Given the description of an element on the screen output the (x, y) to click on. 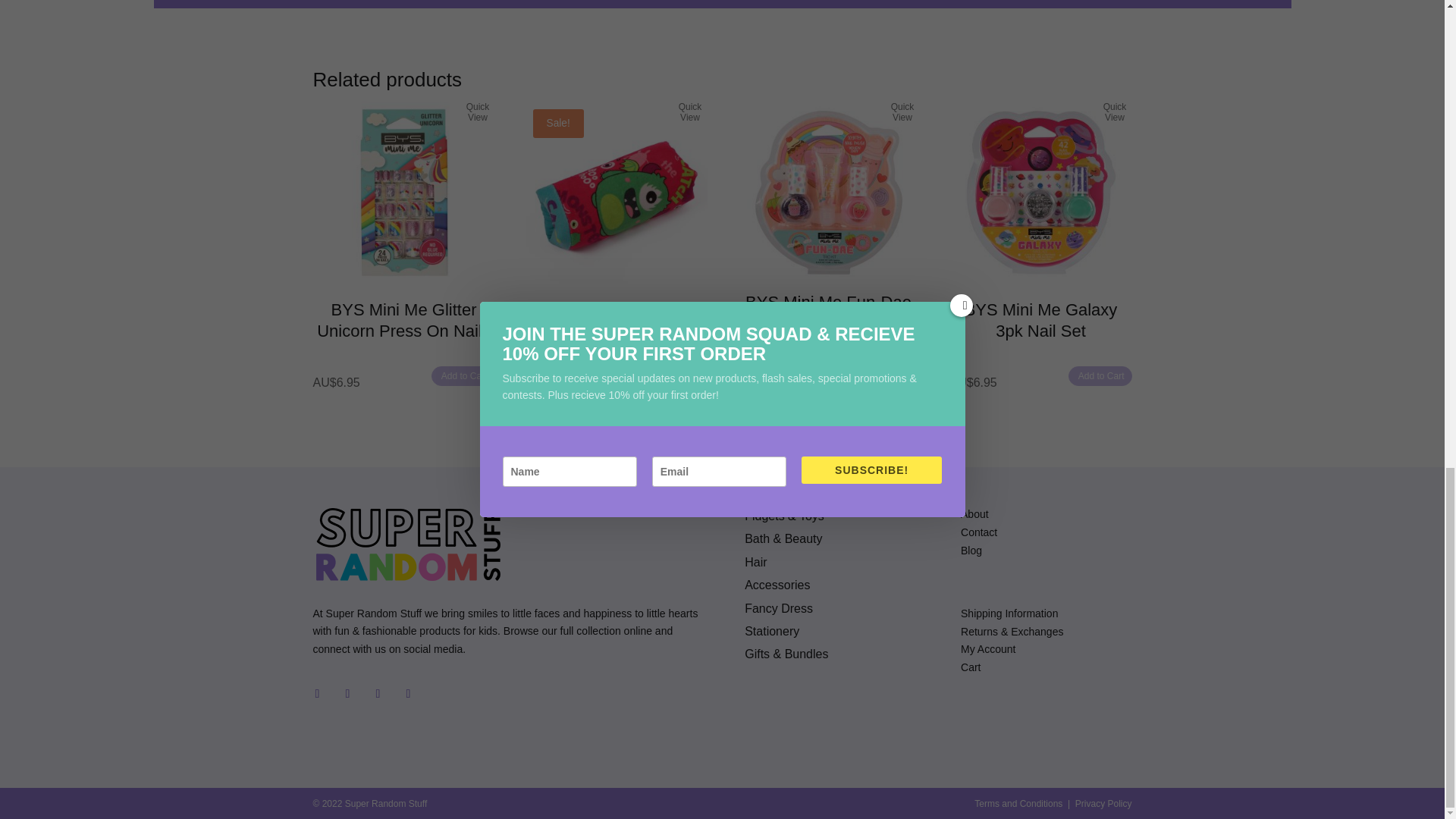
Follow on TikTok (316, 693)
Follow on Instagram (377, 693)
Quick view (902, 113)
Follow on Youtube (346, 693)
Follow on Facebook (408, 693)
Quick view (1114, 113)
Super-Random-Stuff-Header (407, 544)
Quick view (478, 113)
Quick view (689, 113)
